Given the description of an element on the screen output the (x, y) to click on. 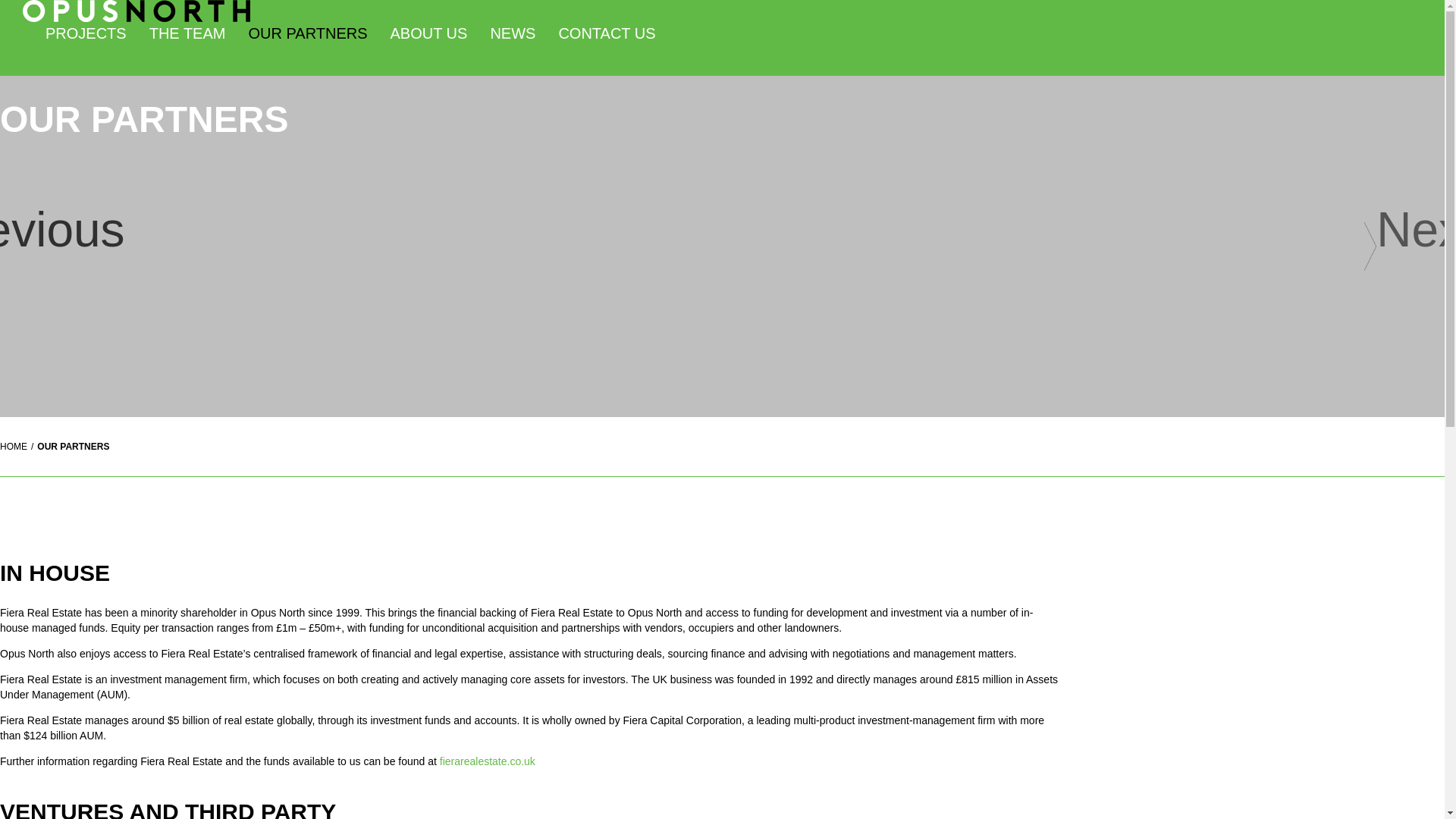
CONTACT US (606, 33)
ABOUT US (428, 33)
Home (13, 446)
Next (1420, 246)
fierarealestate.co.uk (487, 761)
HOME (13, 446)
THE TEAM (187, 33)
visit website (487, 761)
NEWS (512, 33)
PROJECTS (85, 33)
OUR PARTNERS (306, 33)
Previous (24, 246)
Opus North (136, 18)
